Given the description of an element on the screen output the (x, y) to click on. 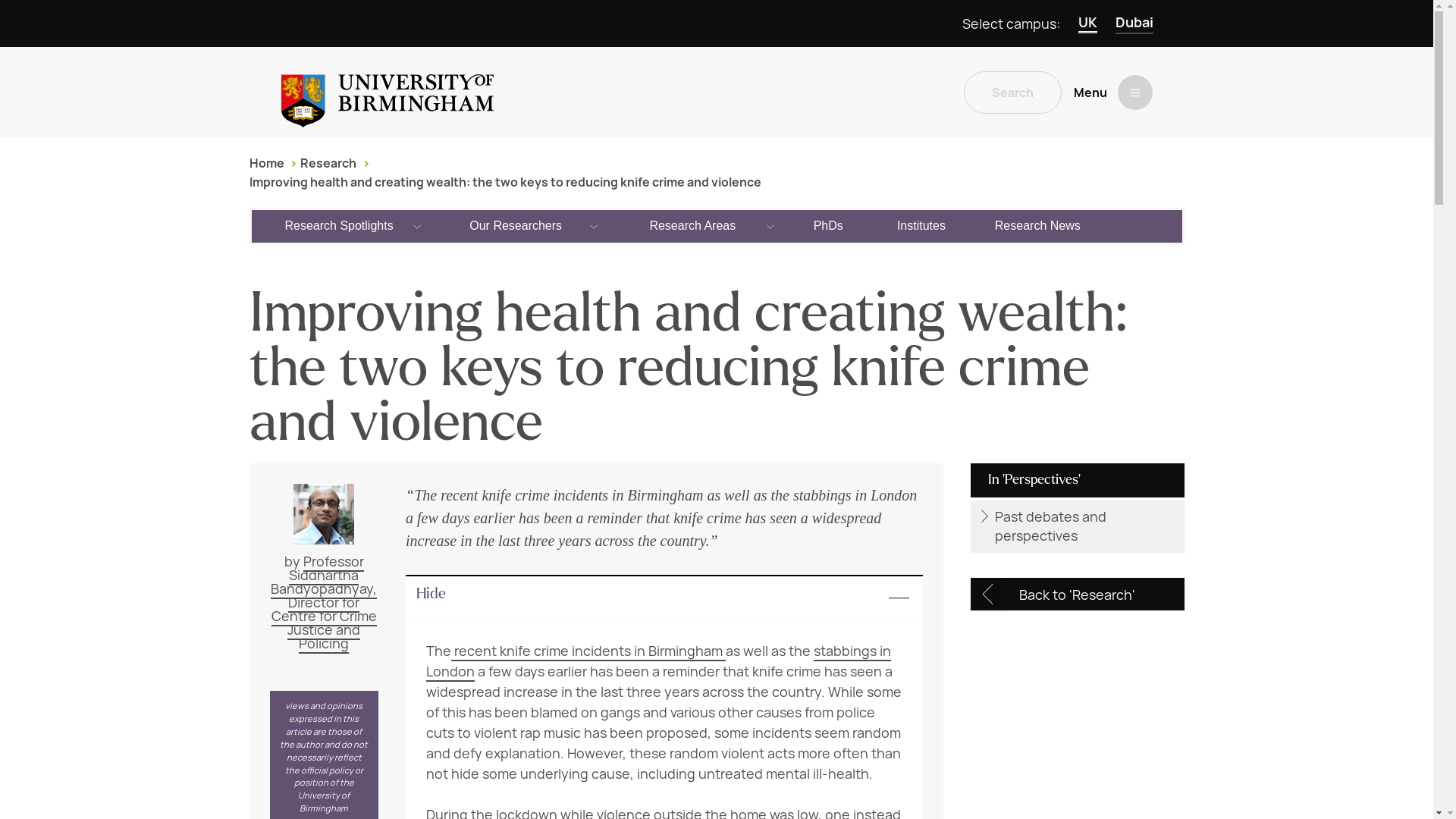
Search (1012, 92)
UK (1087, 23)
Research Spotlights (339, 225)
Research Areas (693, 225)
Research (327, 162)
Dubai (1134, 23)
Home (265, 162)
Our Researchers (516, 225)
